Given the description of an element on the screen output the (x, y) to click on. 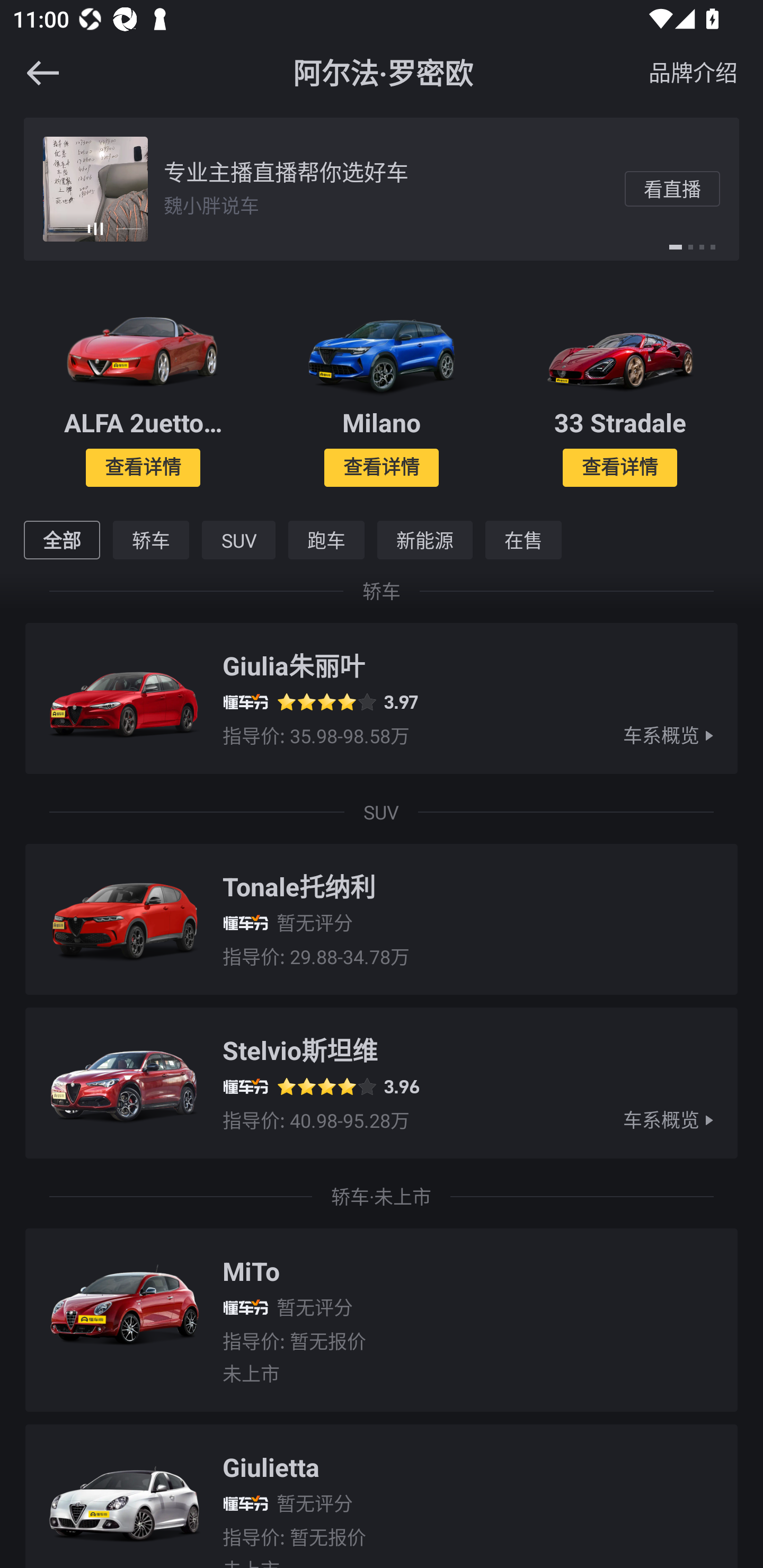
 (30, 72)
品牌介绍 (692, 71)
专业主播直播帮你选好车 魏小胖说车 看直播 (381, 188)
ALFA 2uettottanta 查看详情 (142, 390)
Milano 查看详情 (381, 390)
33 Stradale 查看详情 (619, 390)
查看详情 (143, 467)
查看详情 (381, 467)
查看详情 (619, 467)
全部 (61, 539)
轿车 (150, 539)
SUV (238, 539)
跑车 (326, 539)
新能源 (424, 539)
在售 (523, 539)
Giulia朱丽叶 3.97 指导价: 35.98-98.58万 车系概览 (381, 701)
车系概览 (680, 735)
Tonale托纳利 暂无评分 指导价: 29.88-34.78万 (381, 912)
Stelvio斯坦维 3.96 指导价: 40.98-95.28万 车系概览 (381, 1085)
车系概览 (680, 1120)
MiTo 暂无评分 指导价: 暂无报价 未上市 (381, 1313)
Giulietta 暂无评分 指导价: 暂无报价 未上市 (381, 1489)
